Given the description of an element on the screen output the (x, y) to click on. 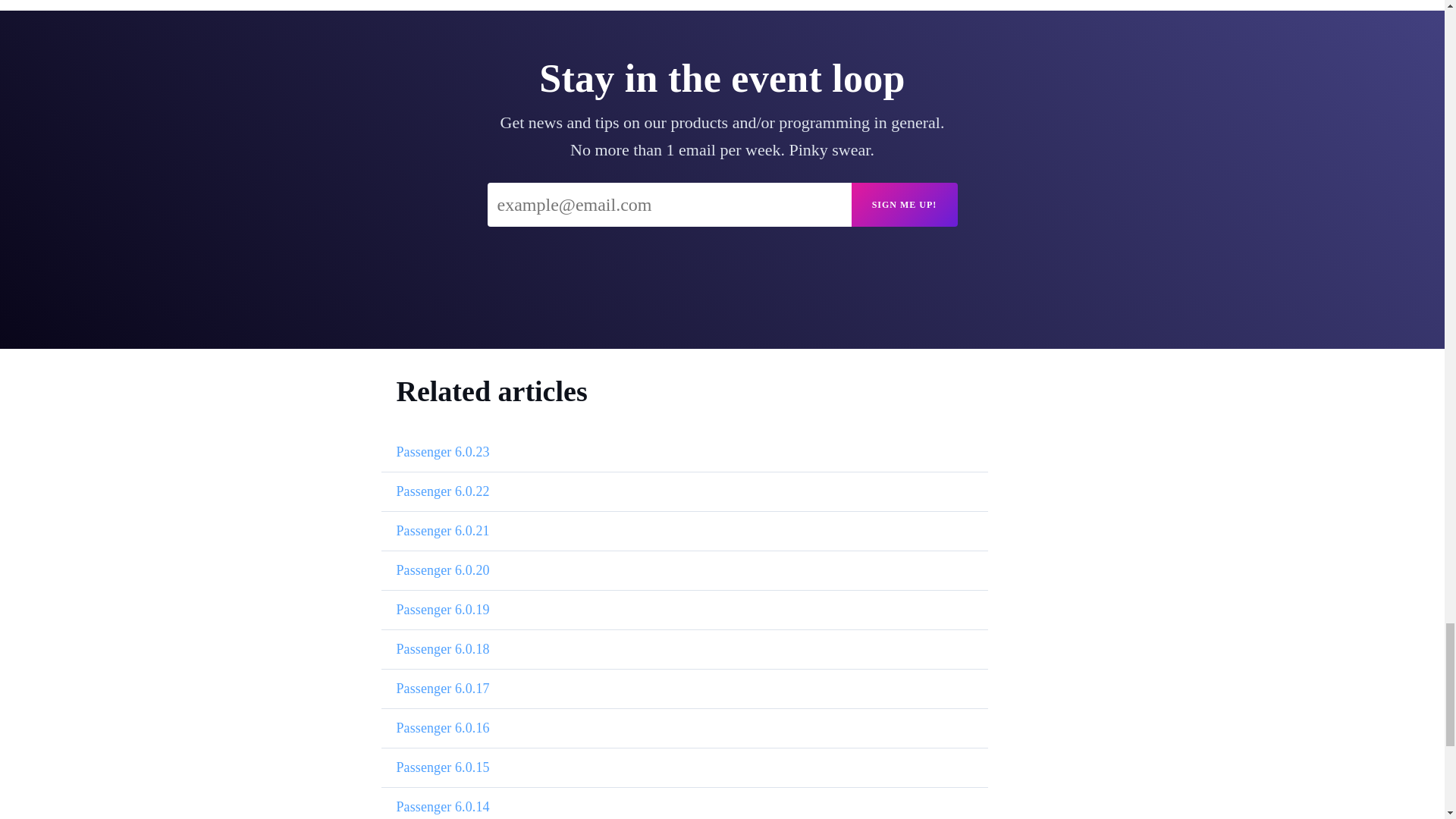
Passenger 6.0.18 (442, 648)
Passenger 6.0.16 (442, 727)
Sign me up! (903, 204)
Sign me up! (903, 204)
Passenger 6.0.19 (442, 609)
Passenger 6.0.21 (442, 530)
Passenger 6.0.15 (442, 767)
Passenger 6.0.17 (442, 688)
Passenger 6.0.22 (442, 491)
Passenger 6.0.20 (442, 570)
Passenger 6.0.23 (442, 451)
Passenger 6.0.14 (442, 806)
